Given the description of an element on the screen output the (x, y) to click on. 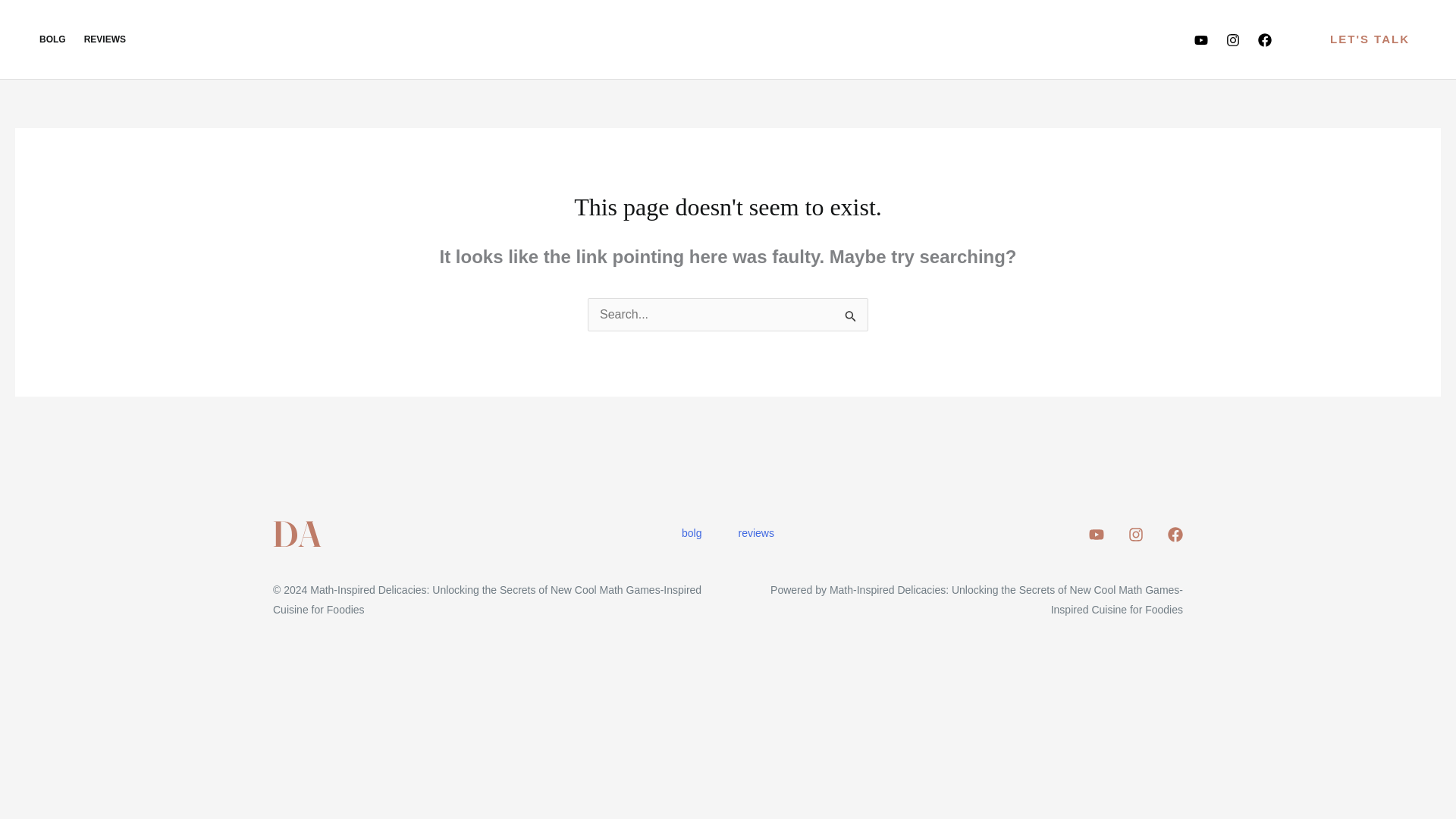
bolg (691, 533)
Search (850, 315)
LET'S TALK (1369, 39)
reviews (756, 533)
Search (850, 315)
Search (850, 315)
